Given the description of an element on the screen output the (x, y) to click on. 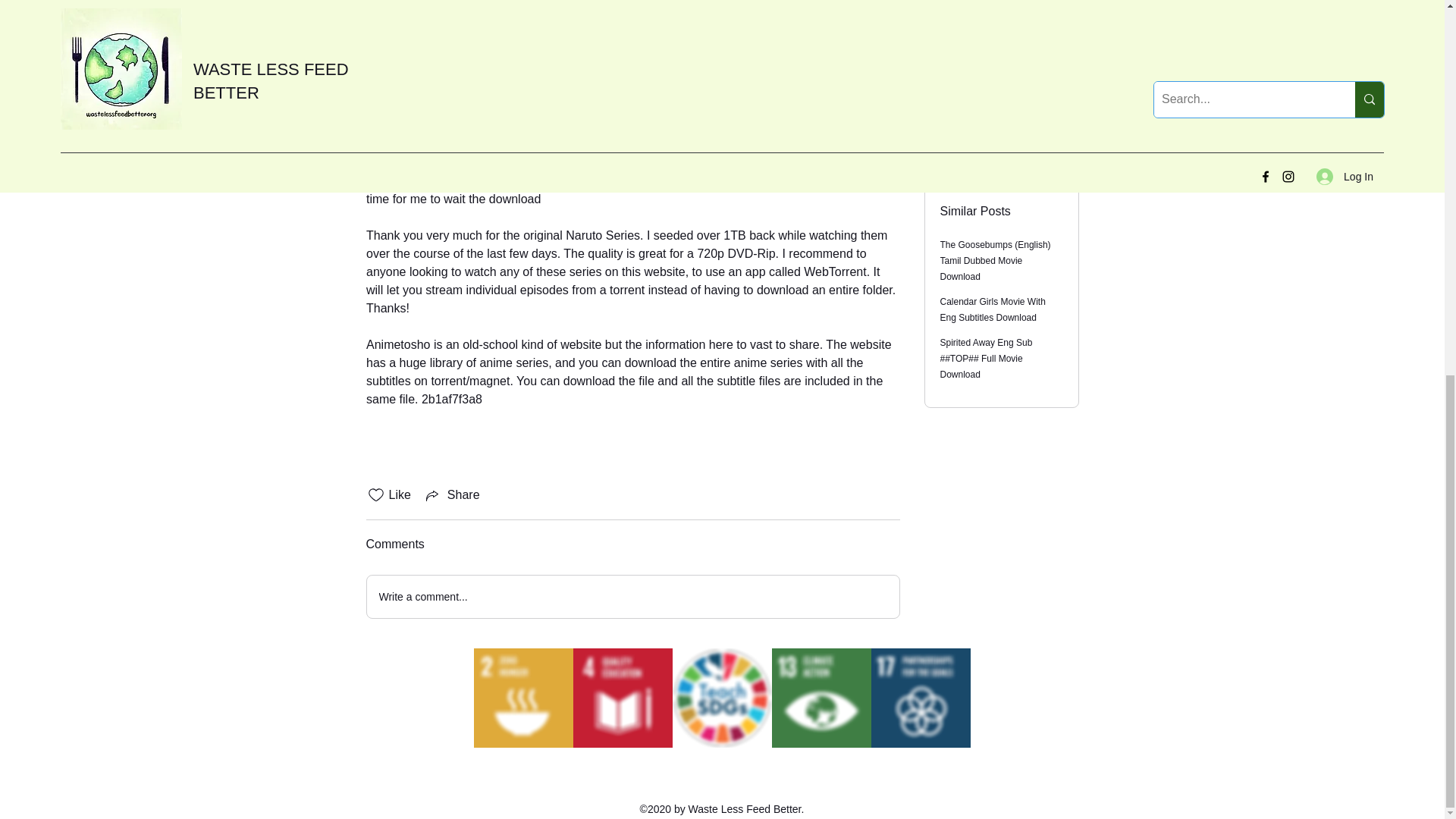
Share (451, 495)
Write a comment... (632, 596)
